Given the description of an element on the screen output the (x, y) to click on. 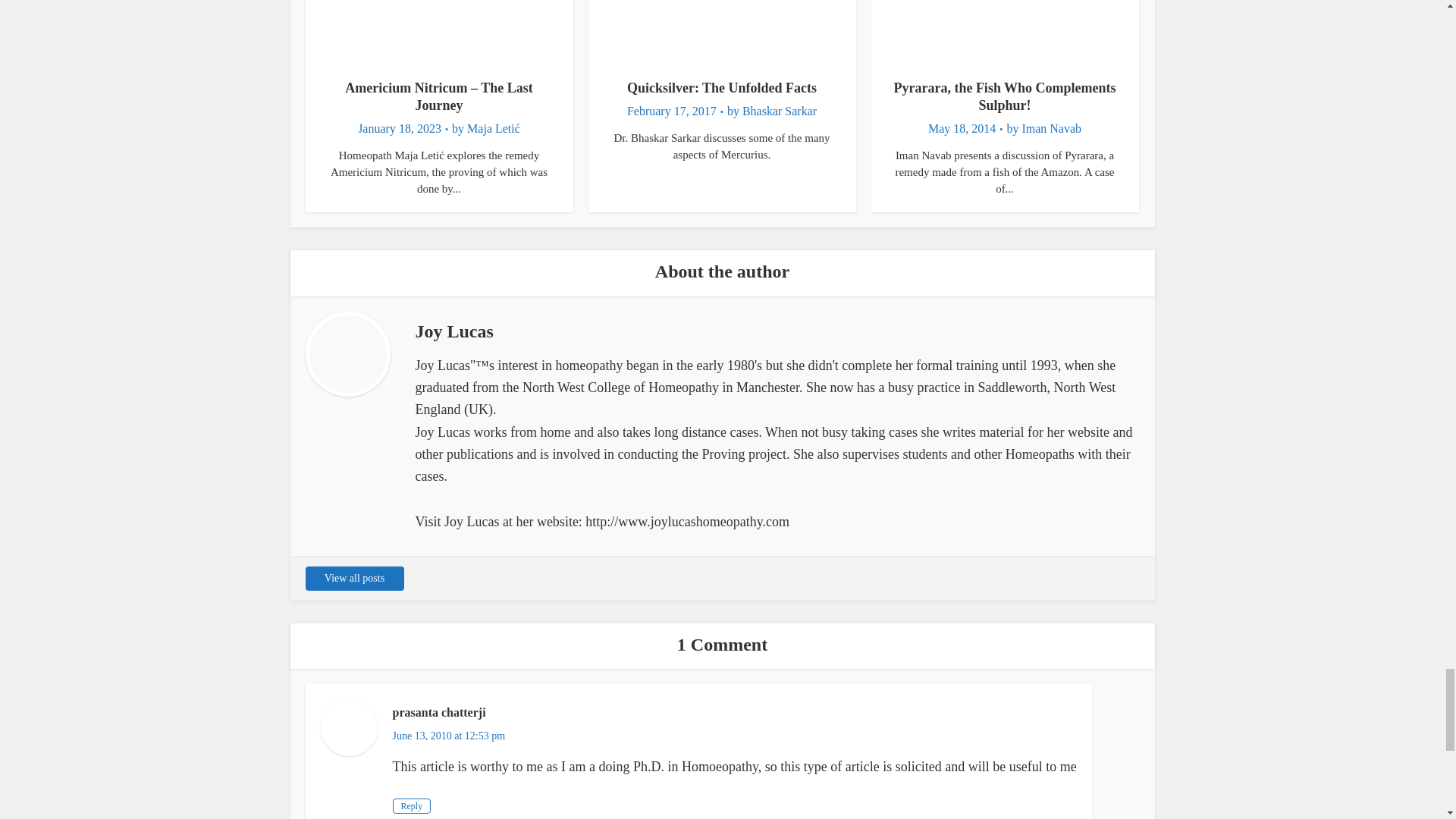
Quicksilver:  The Unfolded Facts (721, 87)
Pyrarara, the Fish Who Complements Sulphur! (1004, 96)
